Given the description of an element on the screen output the (x, y) to click on. 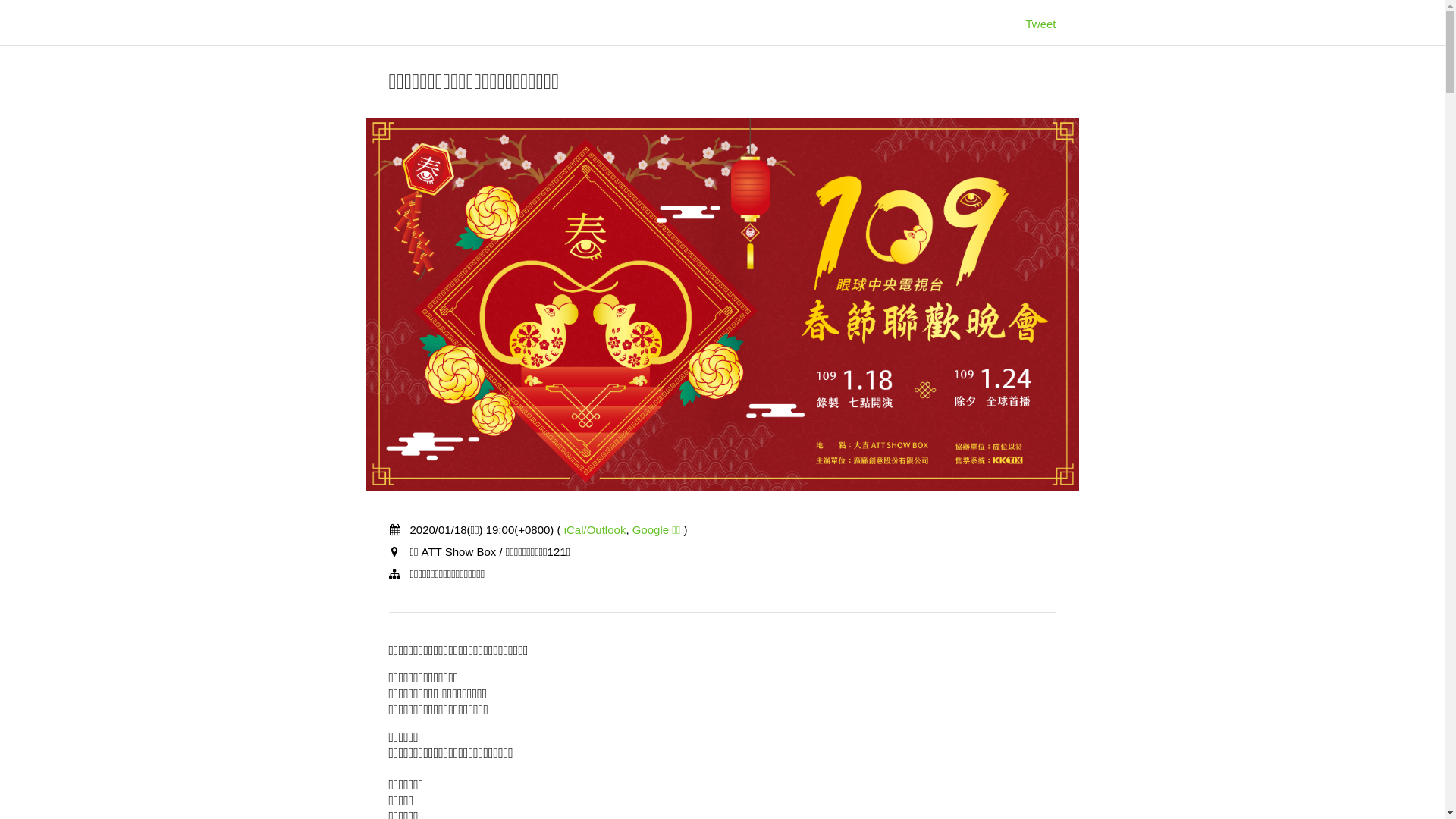
Tweet Element type: text (1040, 23)
iCal/Outlook Element type: text (595, 529)
